Given the description of an element on the screen output the (x, y) to click on. 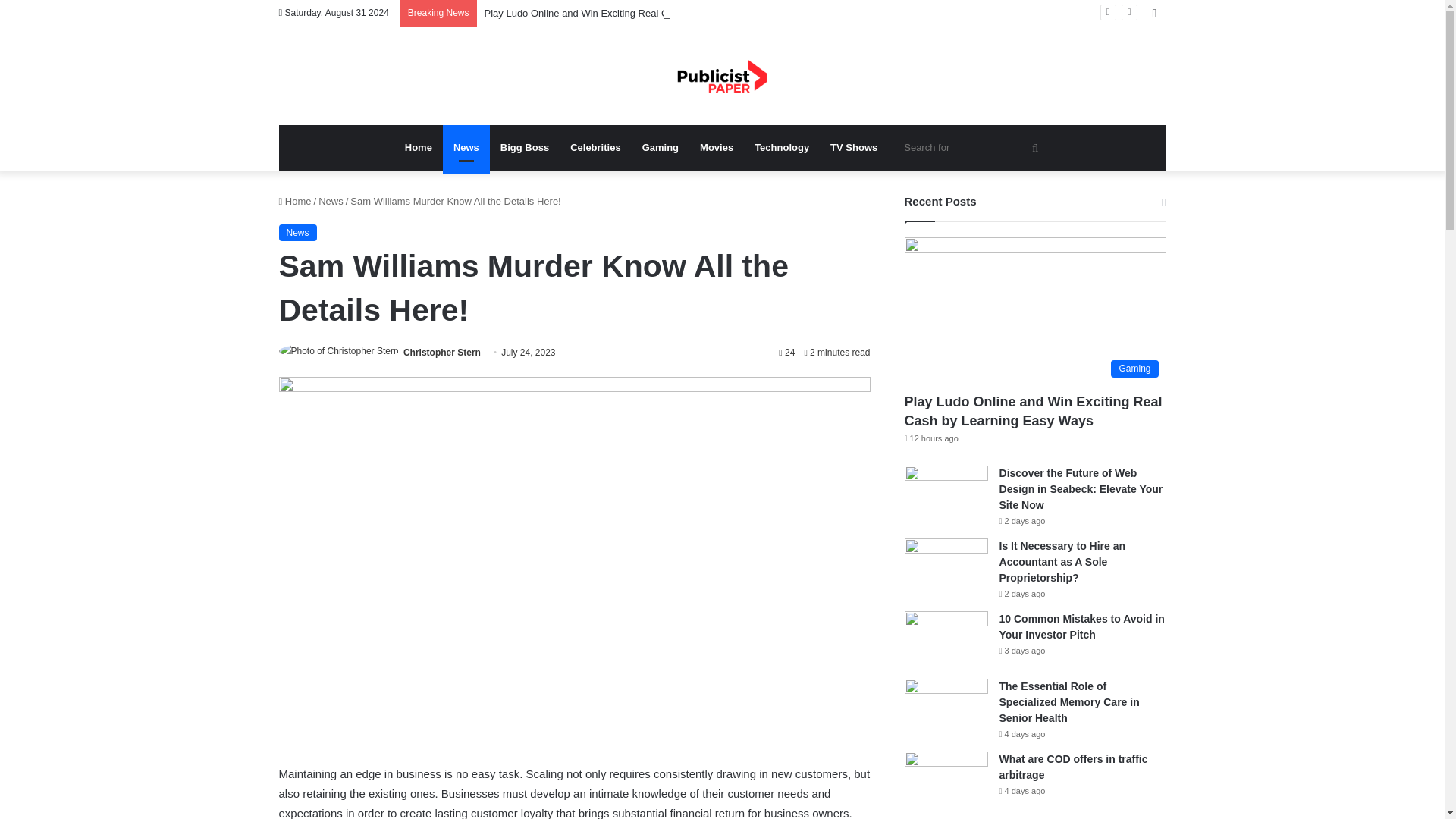
News (298, 232)
Bigg Boss (524, 147)
Christopher Stern (441, 352)
Publicist Paper (721, 76)
Gaming (659, 147)
Christopher Stern (441, 352)
Celebrities (594, 147)
Search for (972, 147)
Home (418, 147)
